Given the description of an element on the screen output the (x, y) to click on. 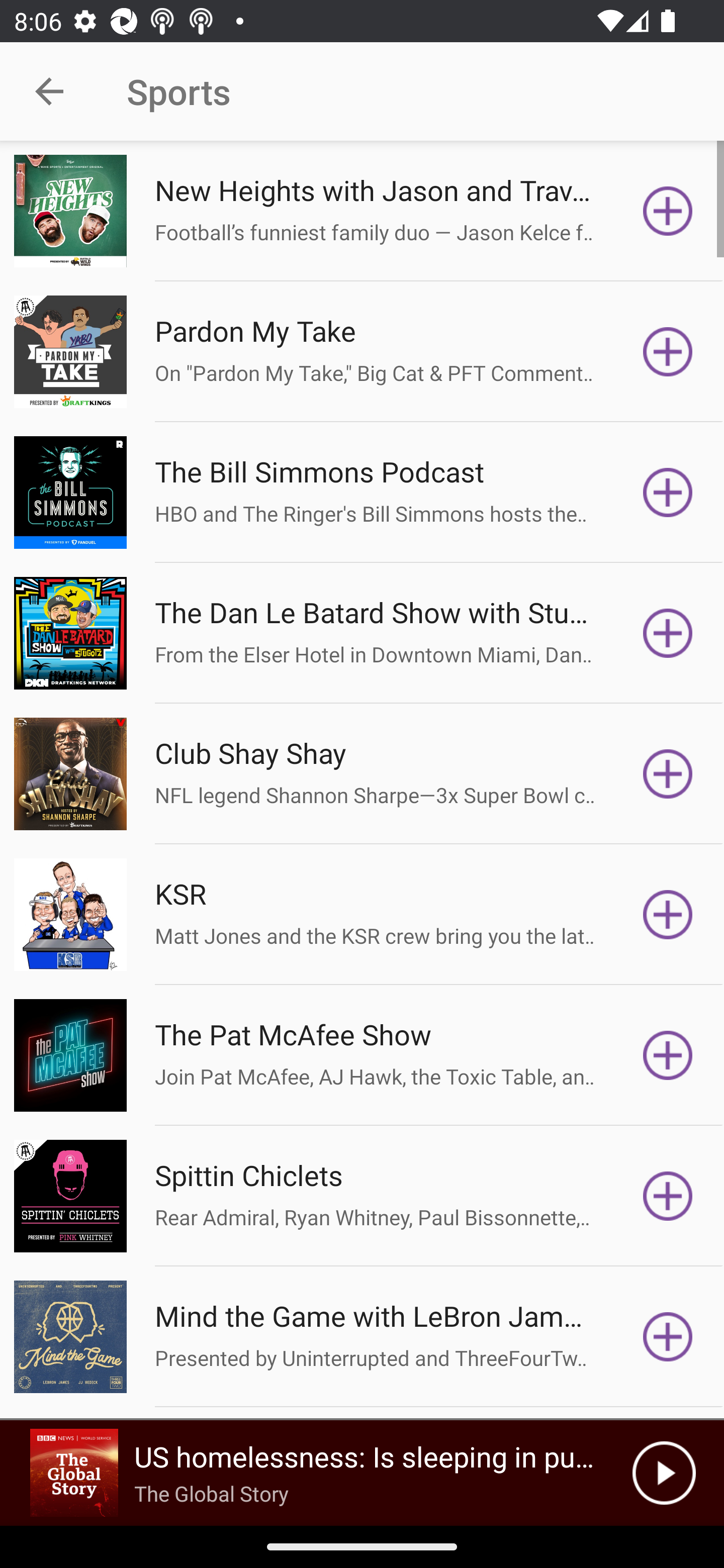
Navigate up (49, 91)
Subscribe (667, 211)
Subscribe (667, 350)
Subscribe (667, 491)
Subscribe (667, 633)
Subscribe (667, 773)
Subscribe (667, 913)
Subscribe (667, 1054)
Subscribe (667, 1195)
Subscribe (667, 1336)
Play (663, 1472)
